Given the description of an element on the screen output the (x, y) to click on. 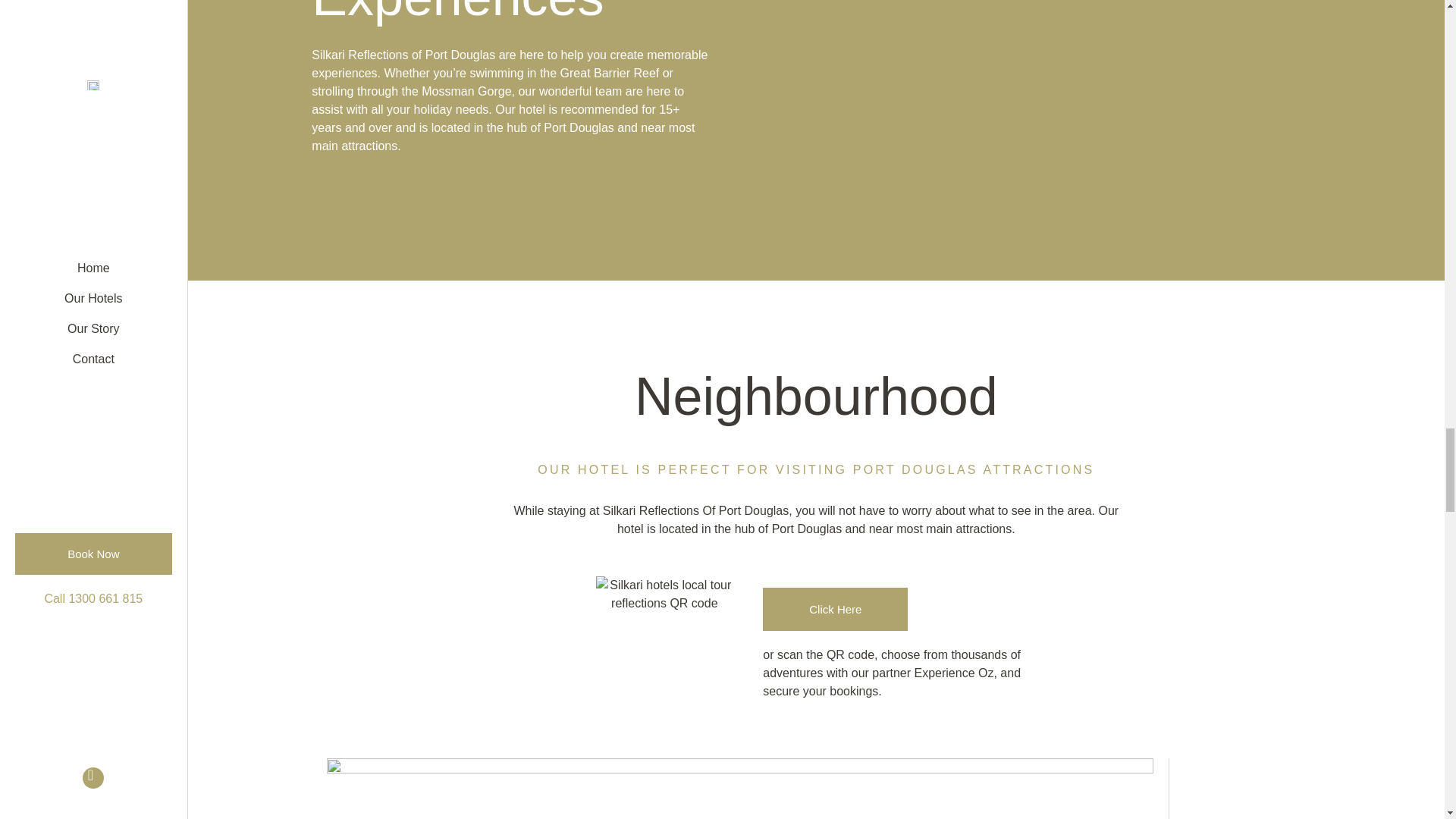
Click Here (834, 609)
